Given the description of an element on the screen output the (x, y) to click on. 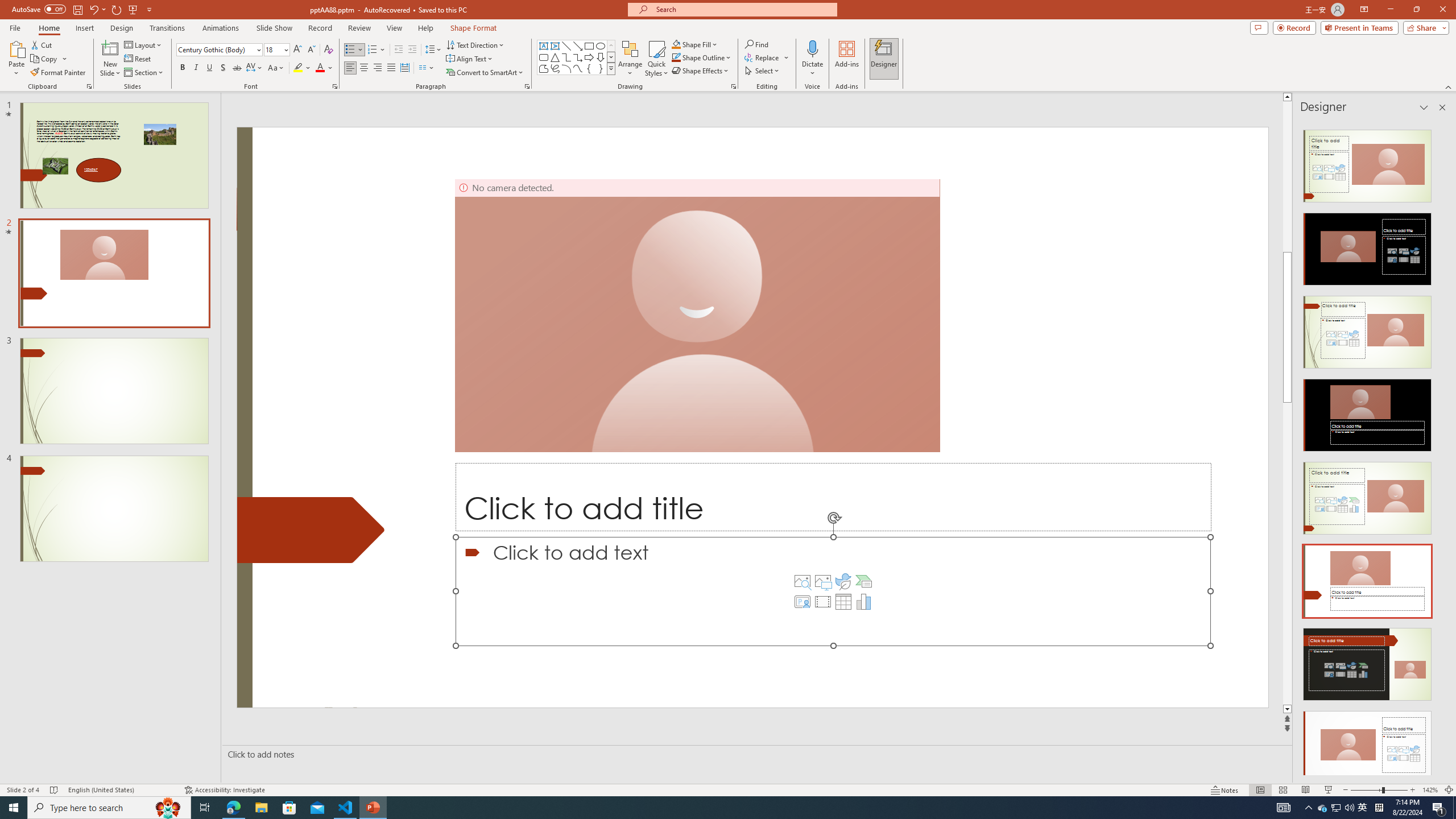
Camera 7, No camera detected. (697, 314)
